Given the description of an element on the screen output the (x, y) to click on. 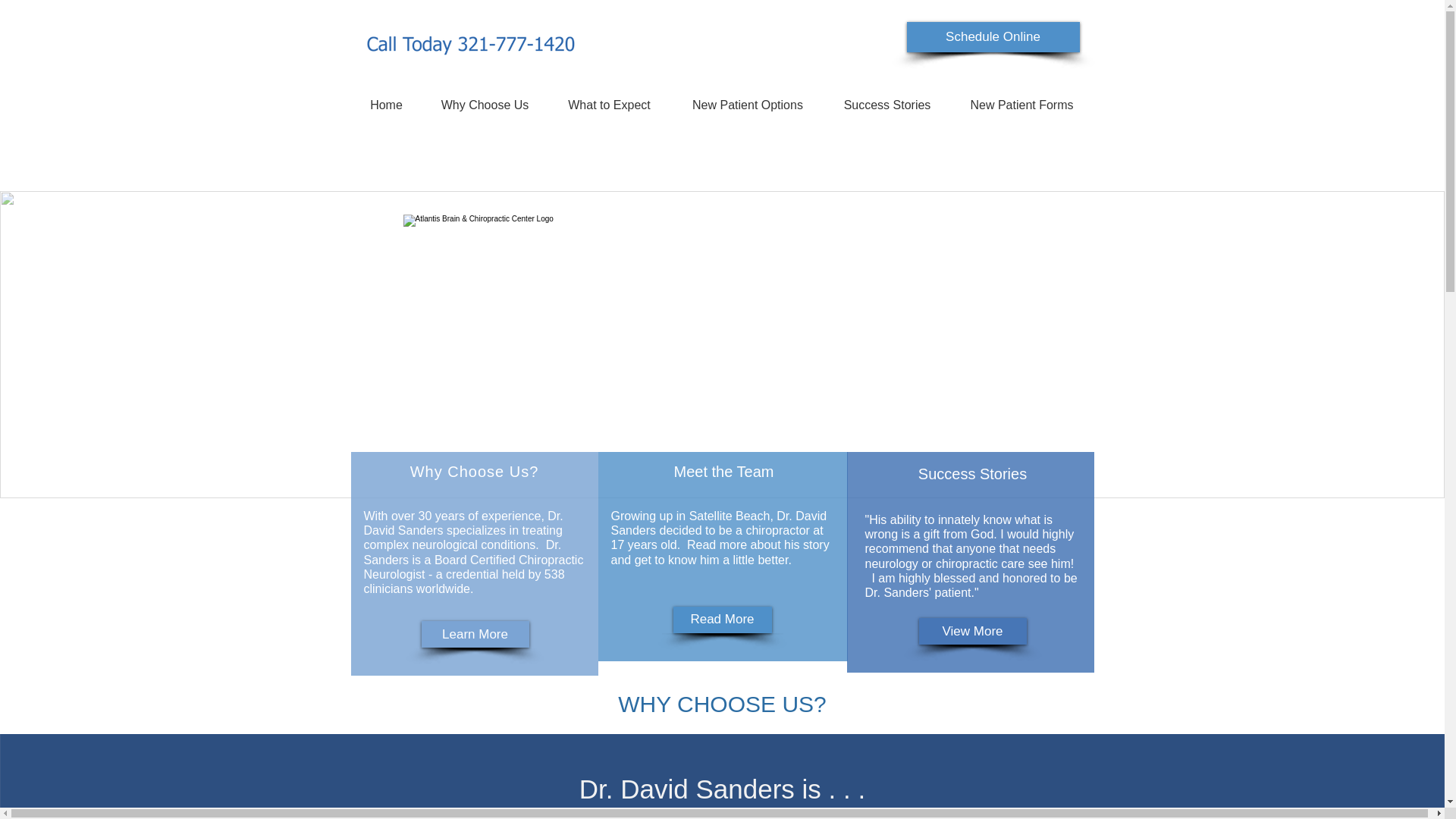
New Patient Options (746, 105)
Success Stories (972, 474)
Learn More (475, 633)
Schedule Online (993, 37)
What to Expect (608, 105)
Success Stories (887, 105)
Request an Appointment (1321, 18)
Why Choose Us (484, 105)
New Patient Forms (1021, 105)
Read More (721, 619)
